Given the description of an element on the screen output the (x, y) to click on. 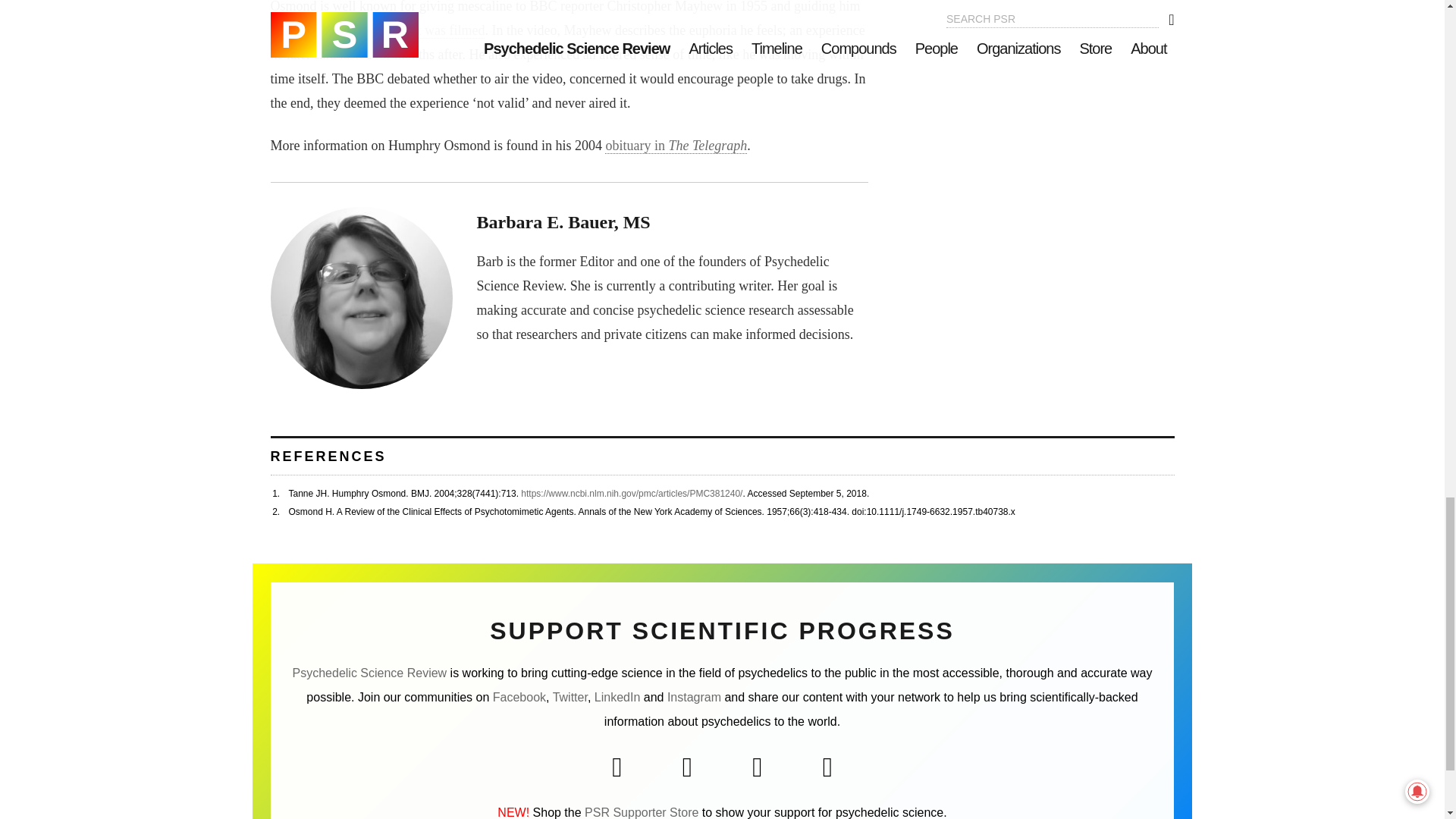
Barbara E. Bauer, MS (562, 221)
Facebook (519, 697)
as it was filmed (441, 30)
Posts by Barbara E. Bauer, MS (562, 221)
Follow Psychedelic Science Review on LinkedIn (617, 697)
obituary in The Telegraph (675, 145)
Facebook (616, 767)
Follow Psychedelic Science Review on Twitter (570, 697)
Instagram (693, 697)
LinkedIn (617, 697)
Twitter (570, 697)
Follow Psychedelic Science Review on Instagram (693, 697)
About Psychedelic Science Review (369, 672)
Like Psychedelic Science Review on Facebook (519, 697)
Psychedelic Science Review (369, 672)
